Given the description of an element on the screen output the (x, y) to click on. 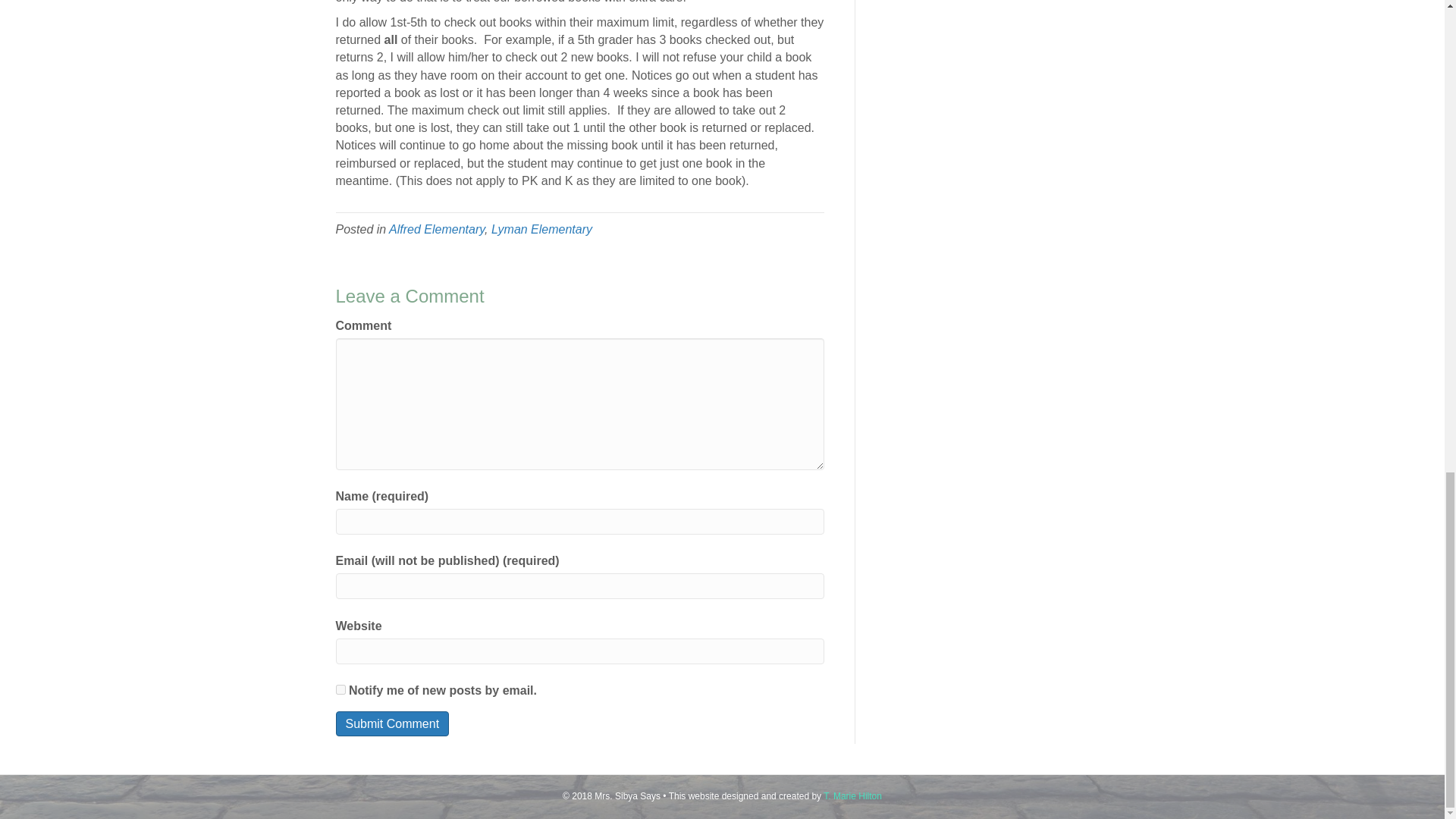
Submit Comment (391, 723)
Alfred Elementary (436, 228)
Submit Comment (391, 723)
subscribe (339, 689)
Lyman Elementary (542, 228)
T. Marie Hilton (853, 796)
